Given the description of an element on the screen output the (x, y) to click on. 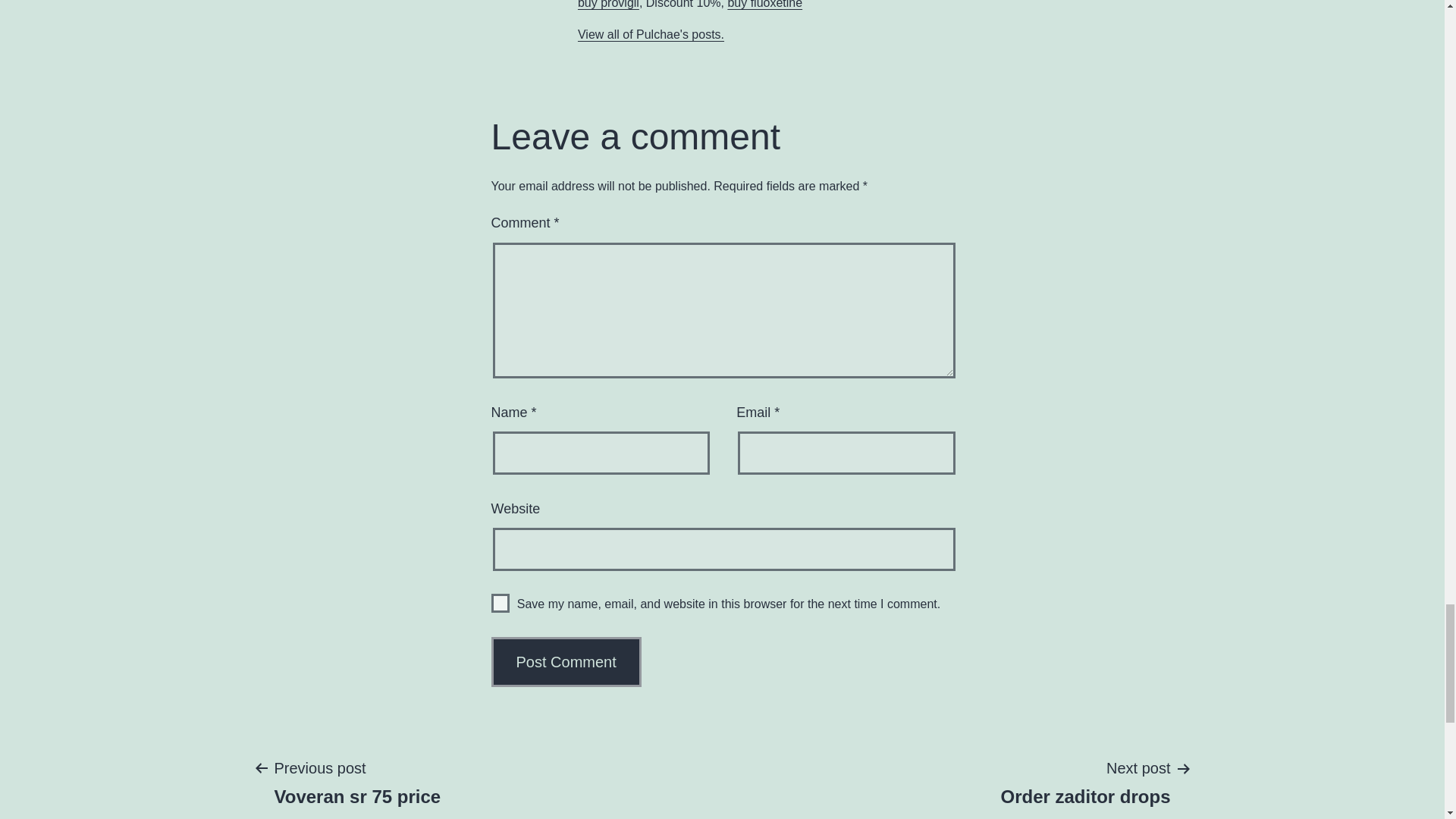
Post Comment (567, 662)
yes (500, 602)
